Given the description of an element on the screen output the (x, y) to click on. 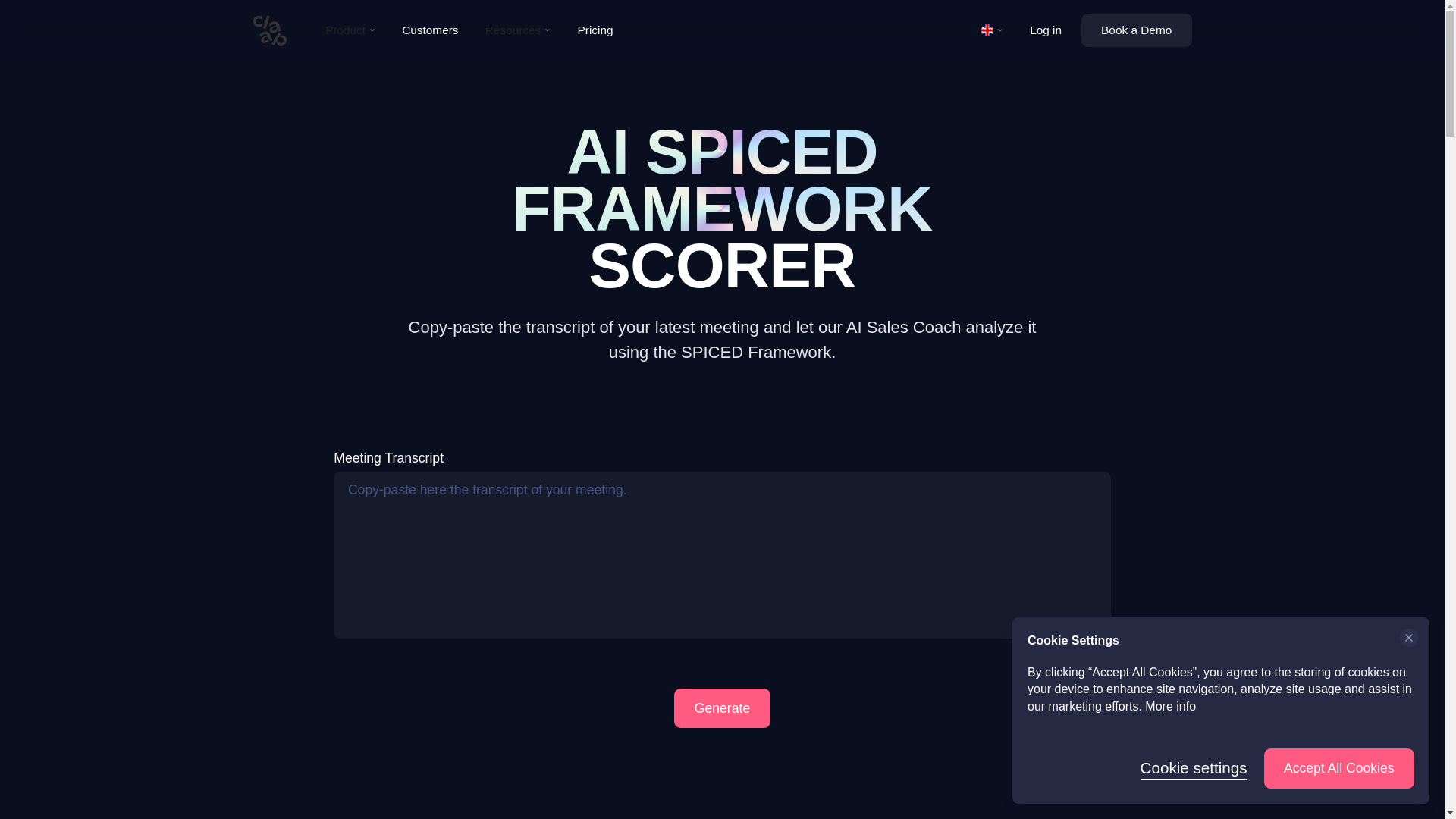
Log in (1045, 30)
Pricing (595, 30)
Book a Demo (1136, 29)
Cookie settings (1193, 768)
More info (1169, 706)
Generate (722, 708)
Accept All Cookies (1338, 768)
Customers (429, 30)
Close Cookie Popup (1408, 638)
